Given the description of an element on the screen output the (x, y) to click on. 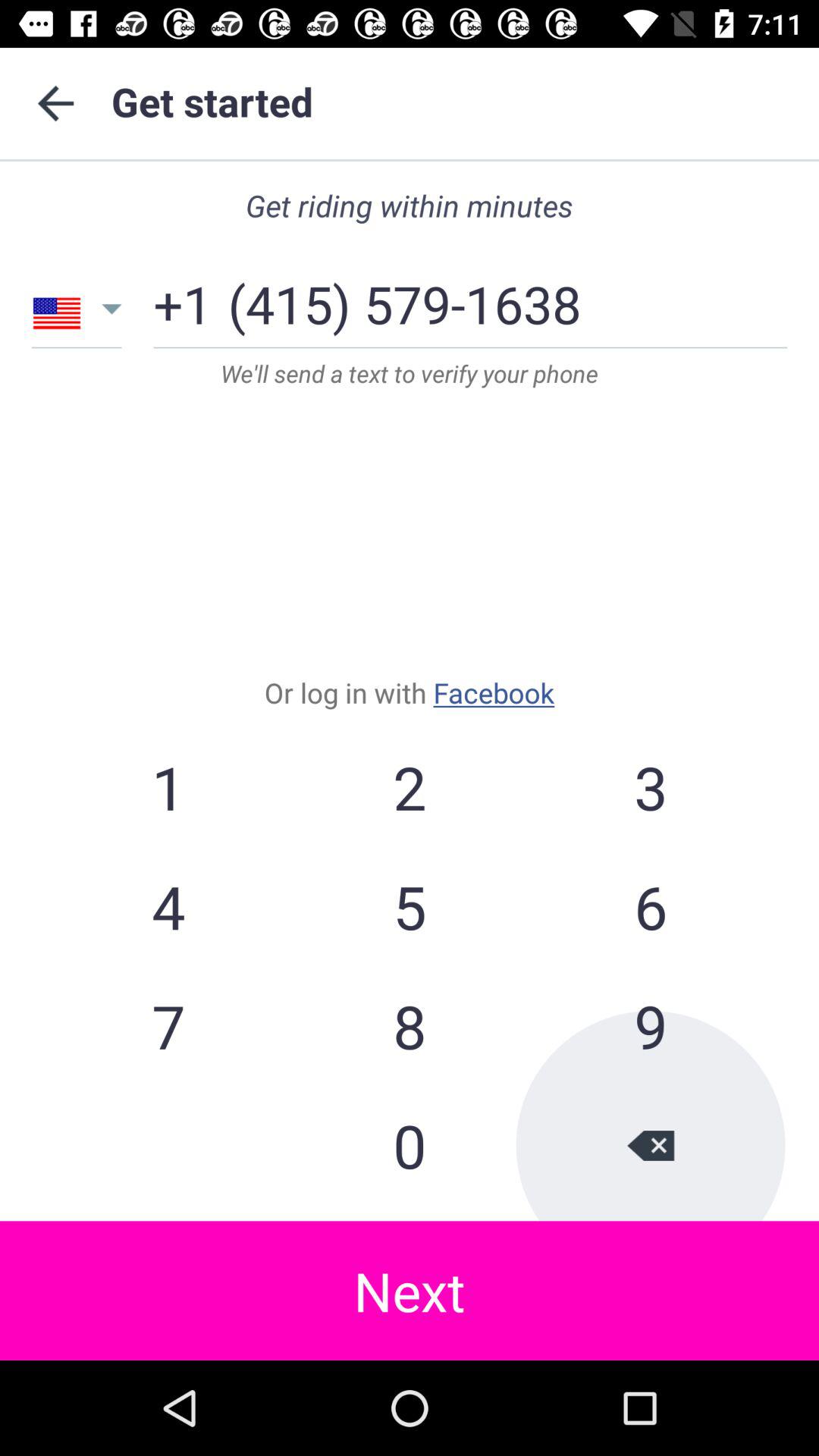
scroll until the (415) 579-1638 (404, 298)
